Given the description of an element on the screen output the (x, y) to click on. 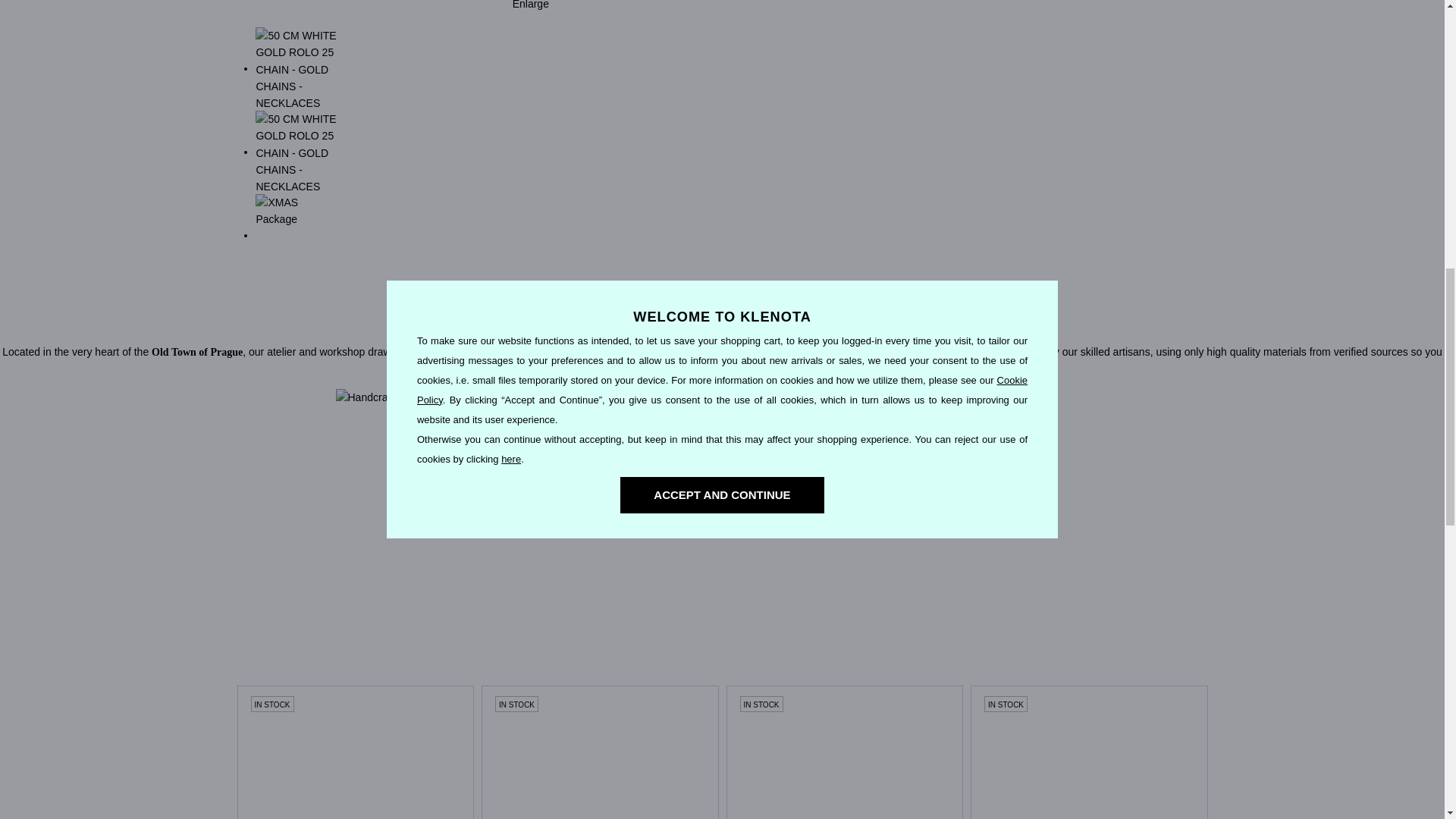
Anchor Chain in Yellow Gold (844, 752)
Ladies 45 cm Rolo Chain Necklace in Gold (600, 752)
Ladies 45 cm Rolo Chain Necklace in Gold (599, 752)
Ladies Necklace in Yellow Gold (354, 752)
50 cm Gold Rolo Chain (1089, 752)
Ladies Necklace in Yellow Gold (356, 752)
50 cm Gold Rolo Chain (1089, 752)
Anchor Chain in Yellow Gold (844, 752)
